Given the description of an element on the screen output the (x, y) to click on. 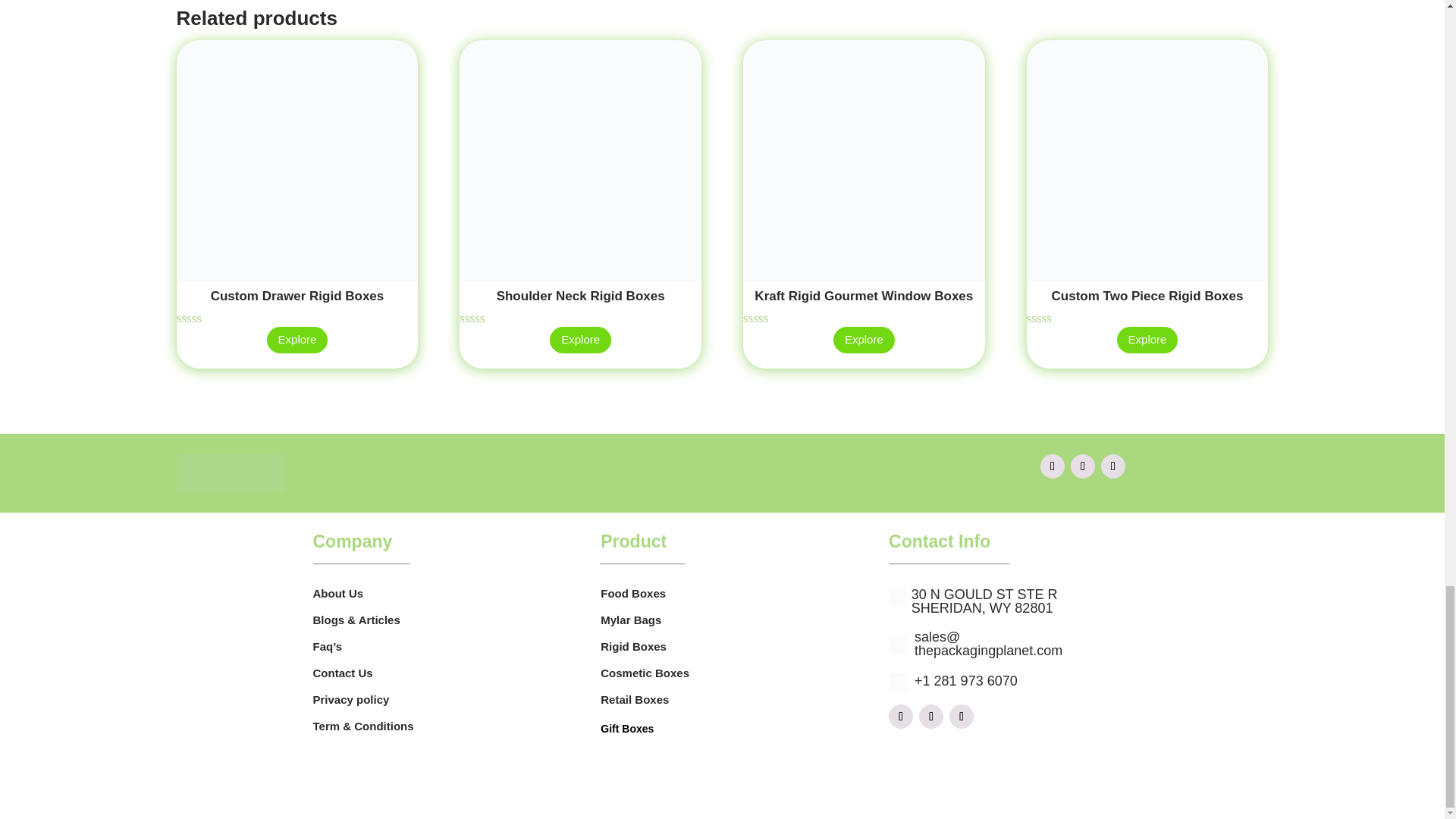
Follow on Facebook (1052, 466)
Follow on Instagram (930, 716)
Follow on LinkedIn (1112, 466)
Follow on Facebook (900, 716)
Follow on Instagram (1082, 466)
Follow on LinkedIn (961, 716)
